Given the description of an element on the screen output the (x, y) to click on. 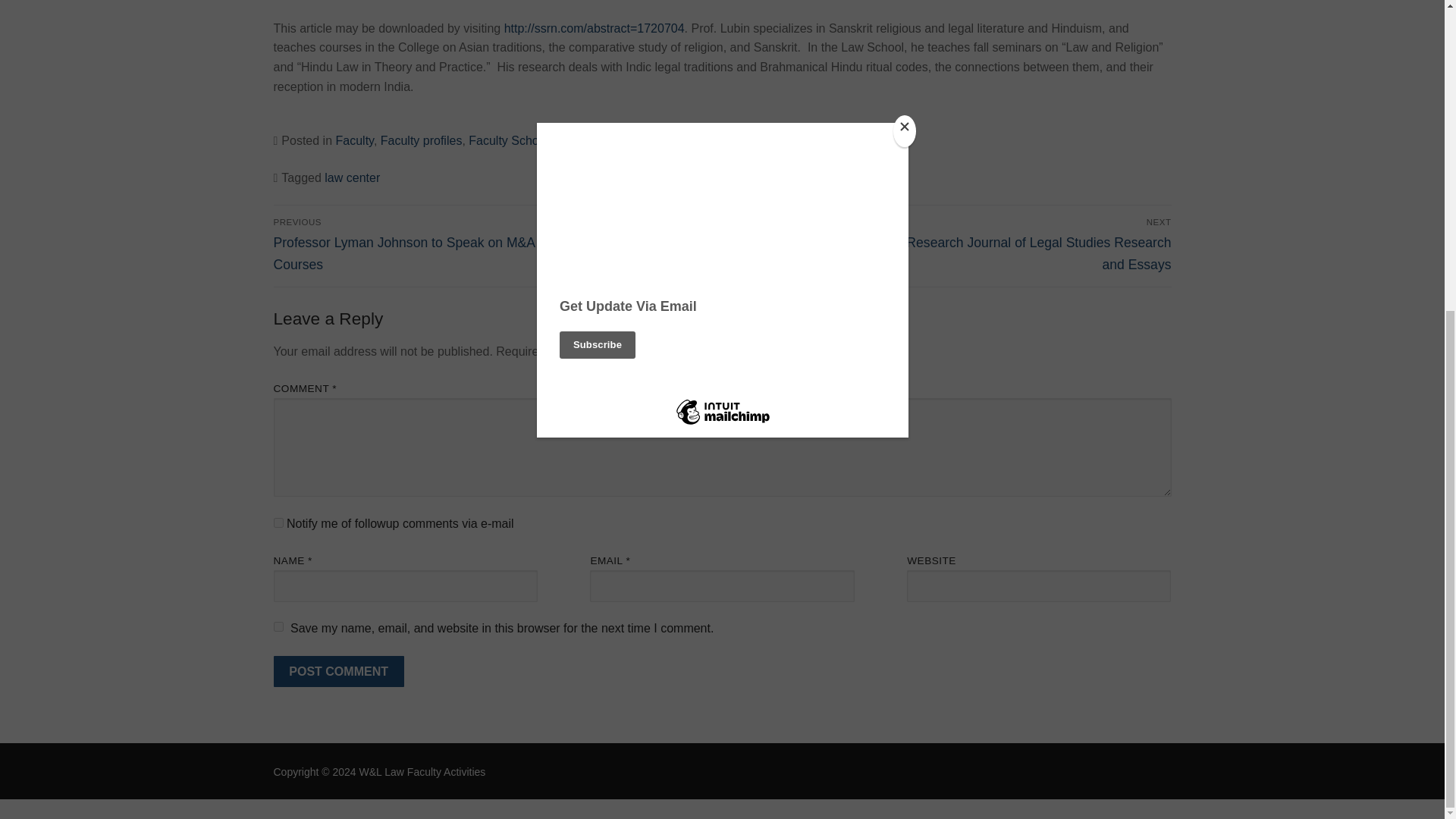
subscribe (277, 522)
Post Comment (338, 671)
law center (352, 177)
Faculty (353, 140)
yes (277, 626)
Scholarship (681, 140)
Faculty Scholarship (521, 140)
Post Comment (338, 671)
Law Center (611, 140)
